Given the description of an element on the screen output the (x, y) to click on. 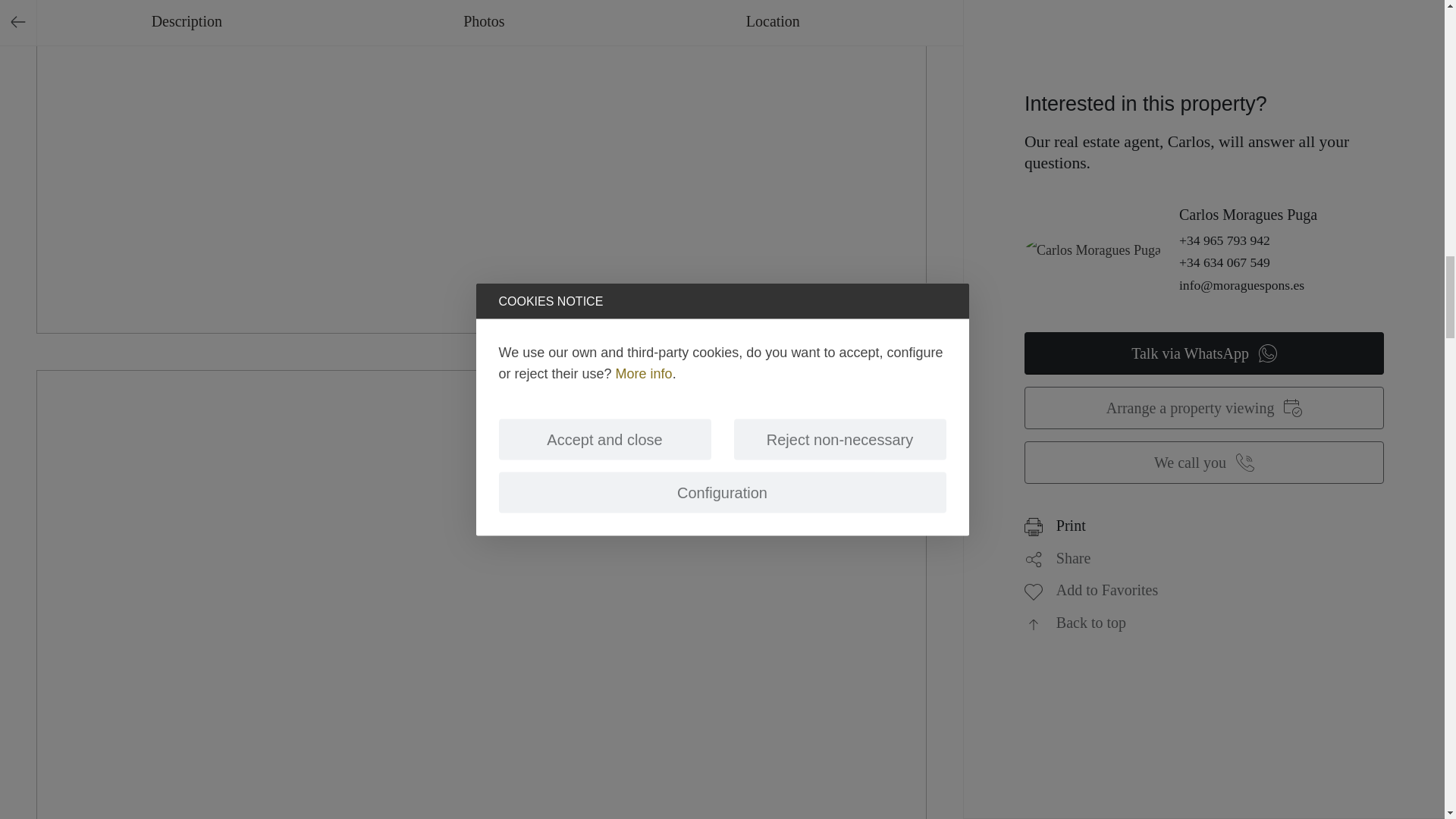
Photo 3 of 7 (481, 766)
